Given the description of an element on the screen output the (x, y) to click on. 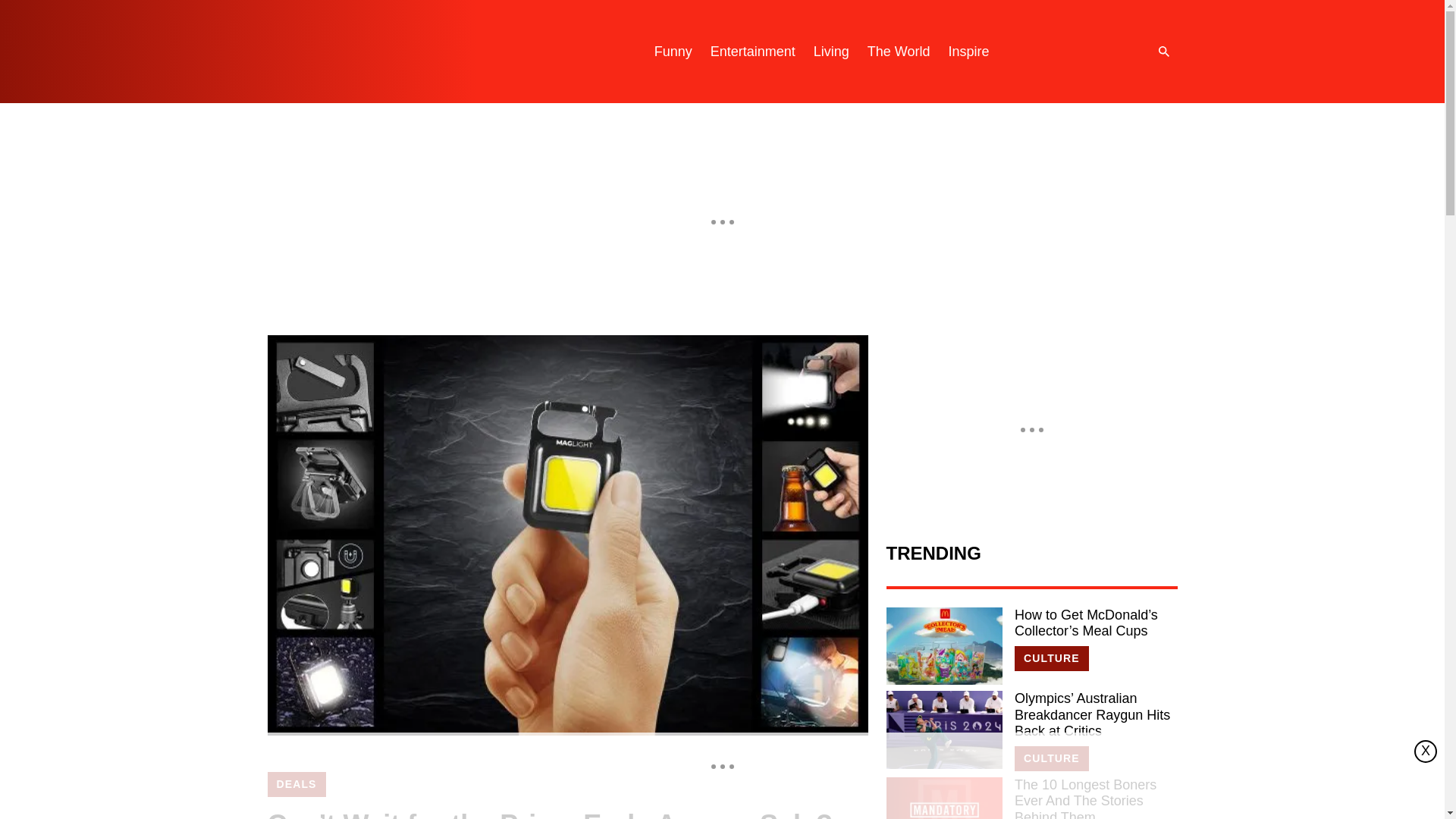
Inspire (968, 51)
Twitter (1079, 51)
Living (832, 51)
Entertainment (753, 51)
The 10 Longest Boners Ever And The Stories Behind Them (944, 798)
CULTURE (1051, 758)
The 10 Longest Boners Ever And The Stories Behind Them (1095, 798)
Instagram (1048, 51)
Facebook (1109, 51)
CULTURE (1051, 658)
